Given the description of an element on the screen output the (x, y) to click on. 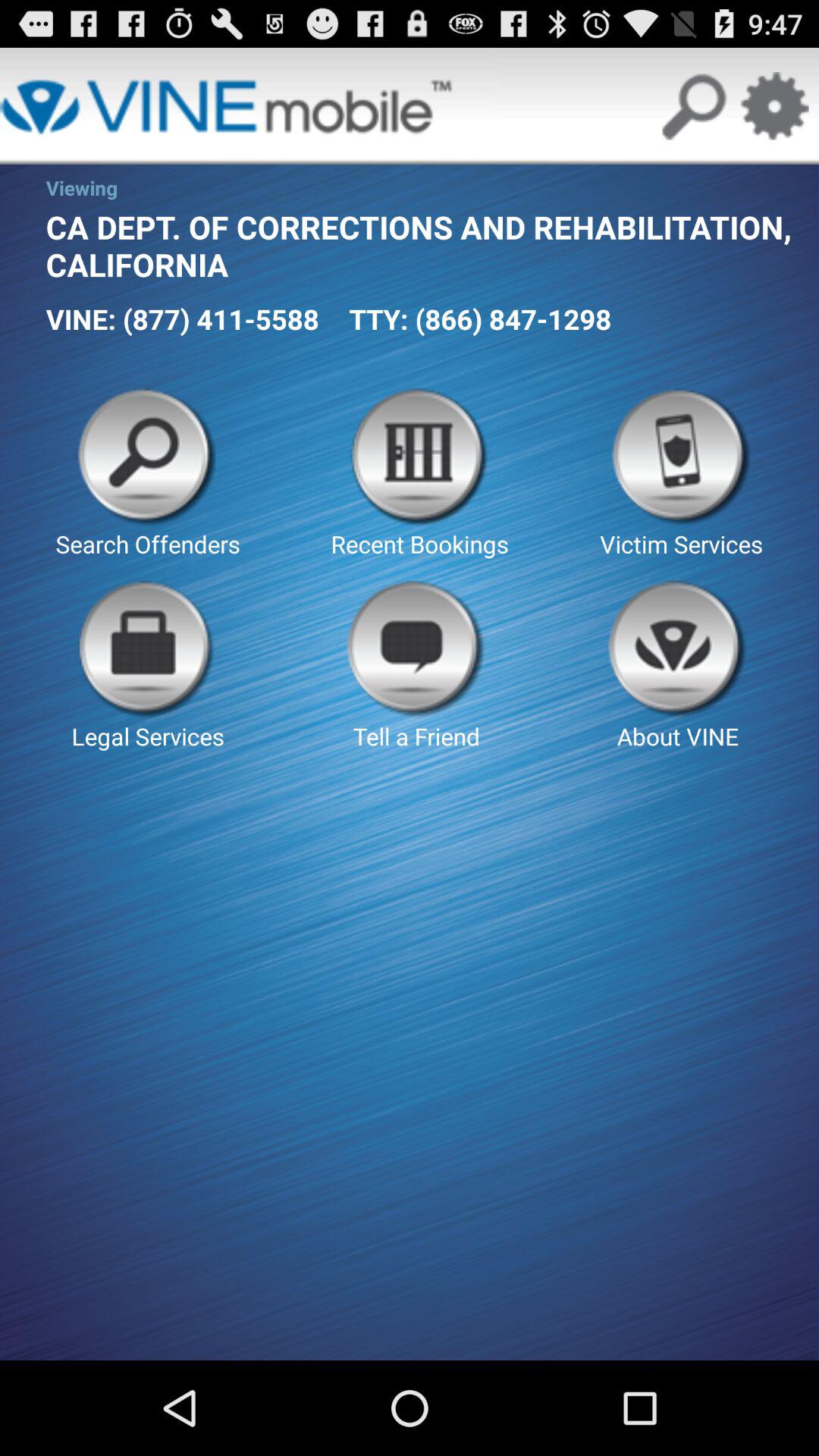
open the item above the search offenders item (182, 318)
